Given the description of an element on the screen output the (x, y) to click on. 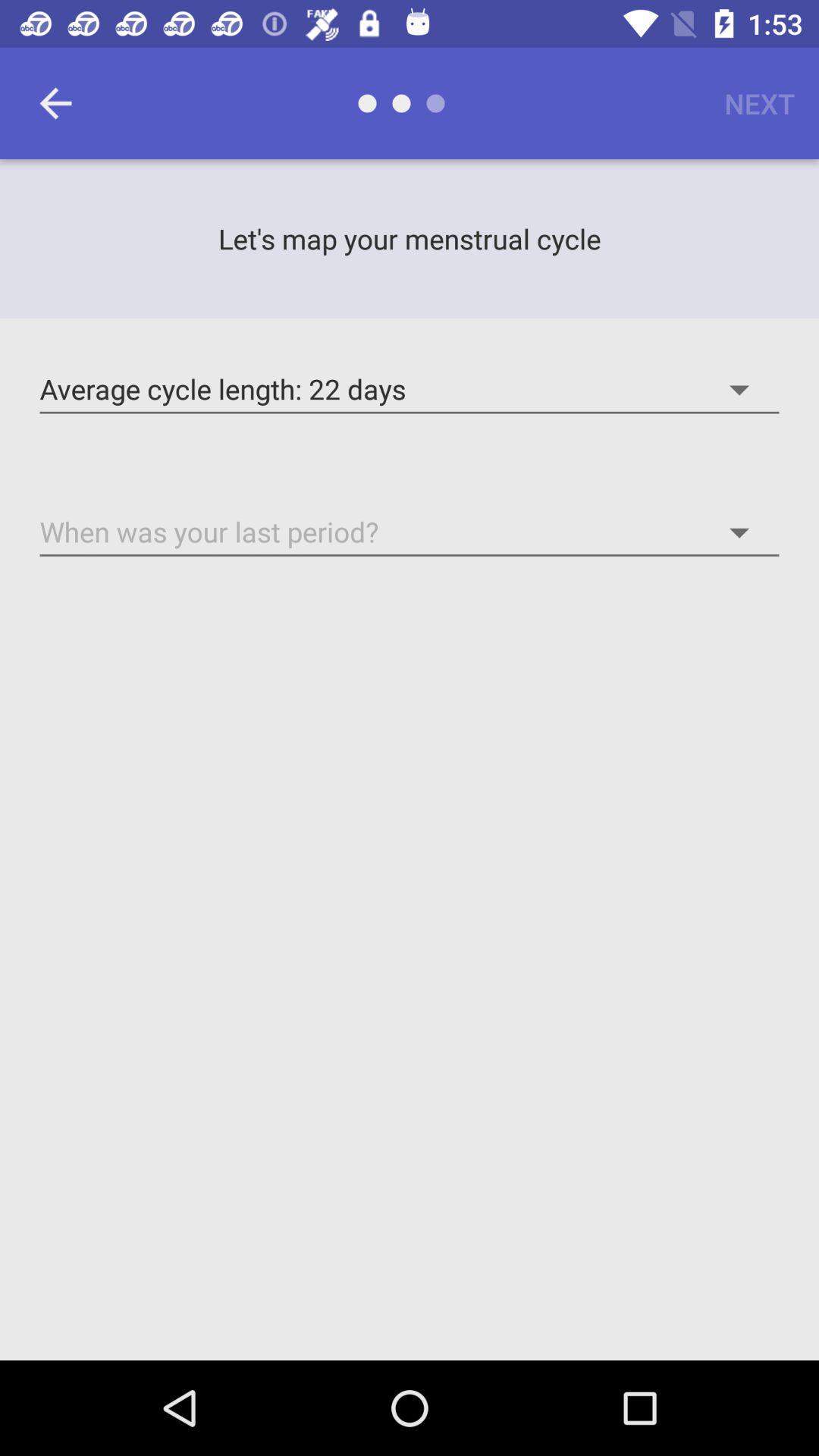
select the option (409, 532)
